Given the description of an element on the screen output the (x, y) to click on. 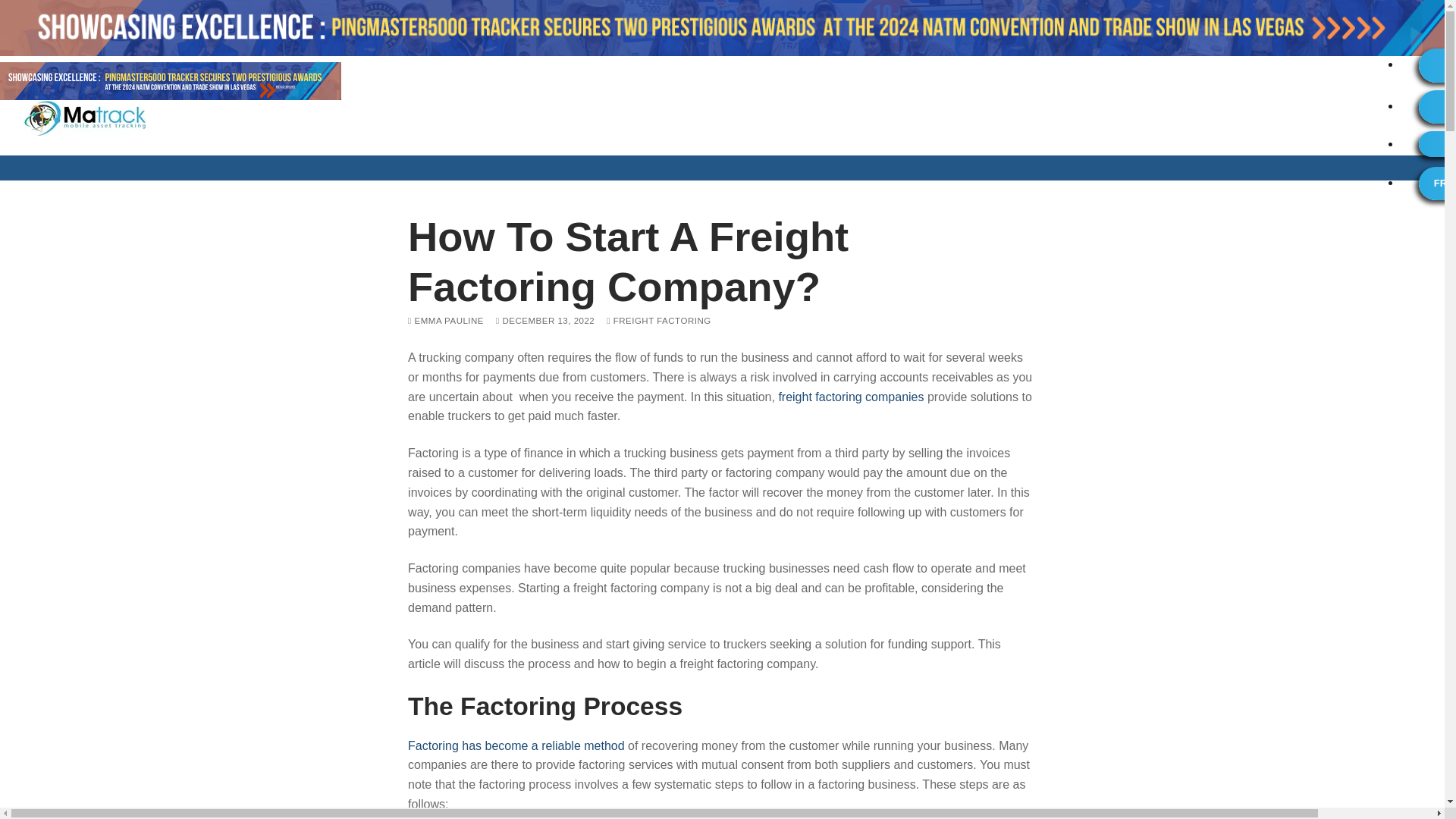
How To Start A Freight Factoring Company (850, 396)
GPS ACTIVATION (1437, 65)
